Given the description of an element on the screen output the (x, y) to click on. 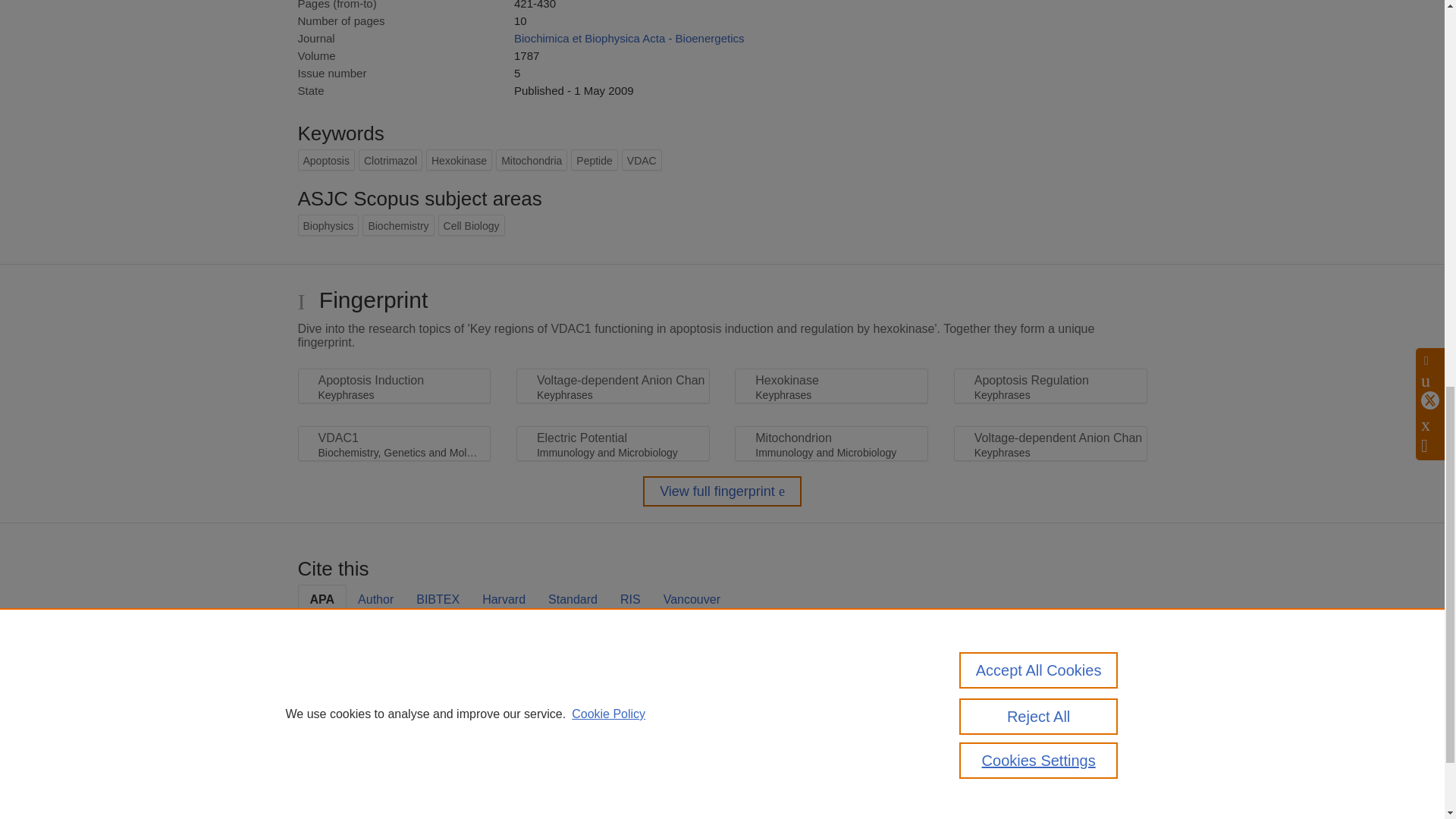
Biochimica et Biophysica Acta - Bioenergetics (628, 38)
View full fingerprint (722, 490)
